Given the description of an element on the screen output the (x, y) to click on. 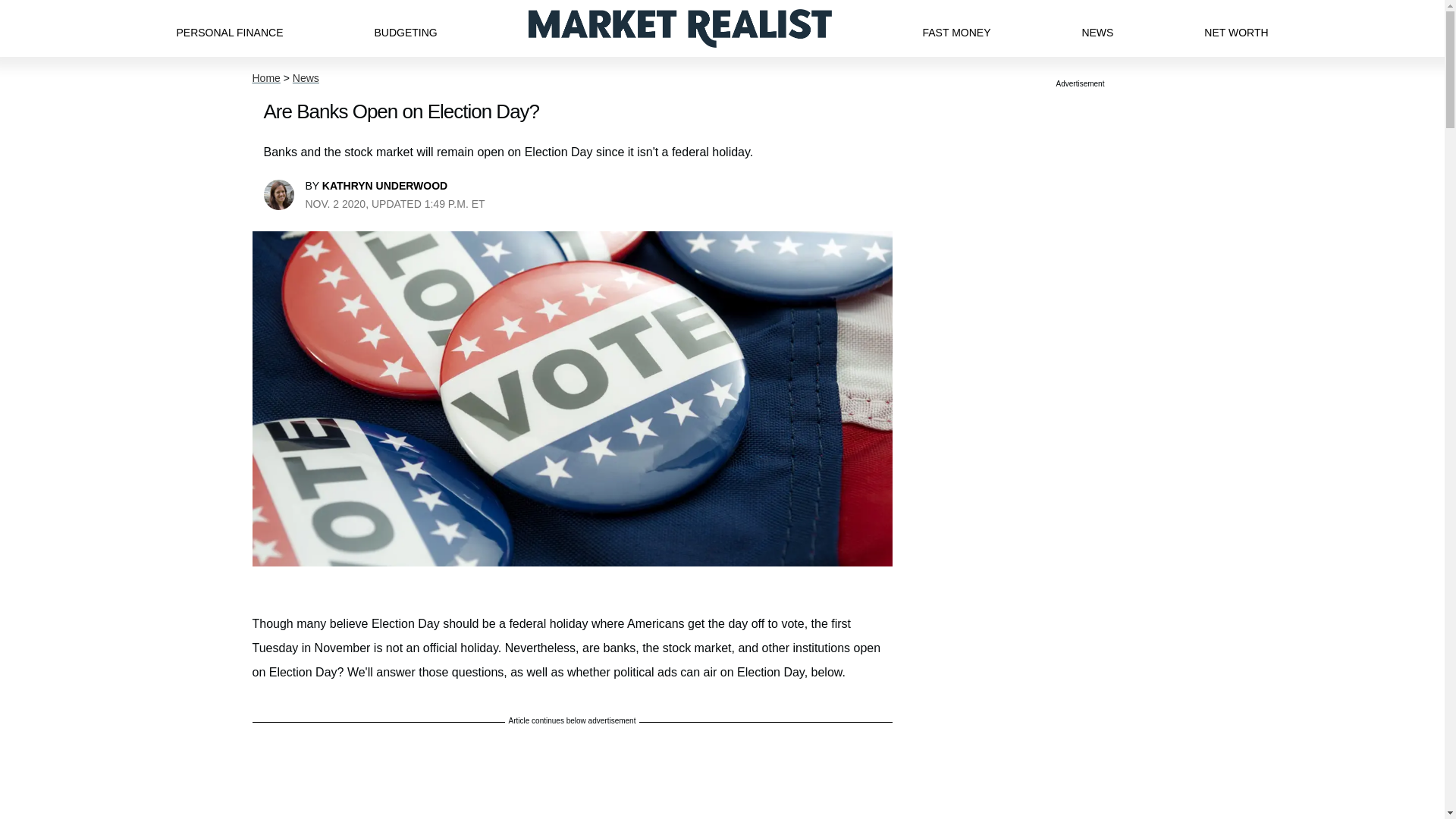
BUDGETING (405, 27)
News (305, 78)
KATHRYN UNDERWOOD (383, 185)
FAST MONEY (955, 27)
NET WORTH (1236, 27)
PERSONAL FINANCE (229, 27)
Home (265, 78)
NEWS (1097, 27)
